Given the description of an element on the screen output the (x, y) to click on. 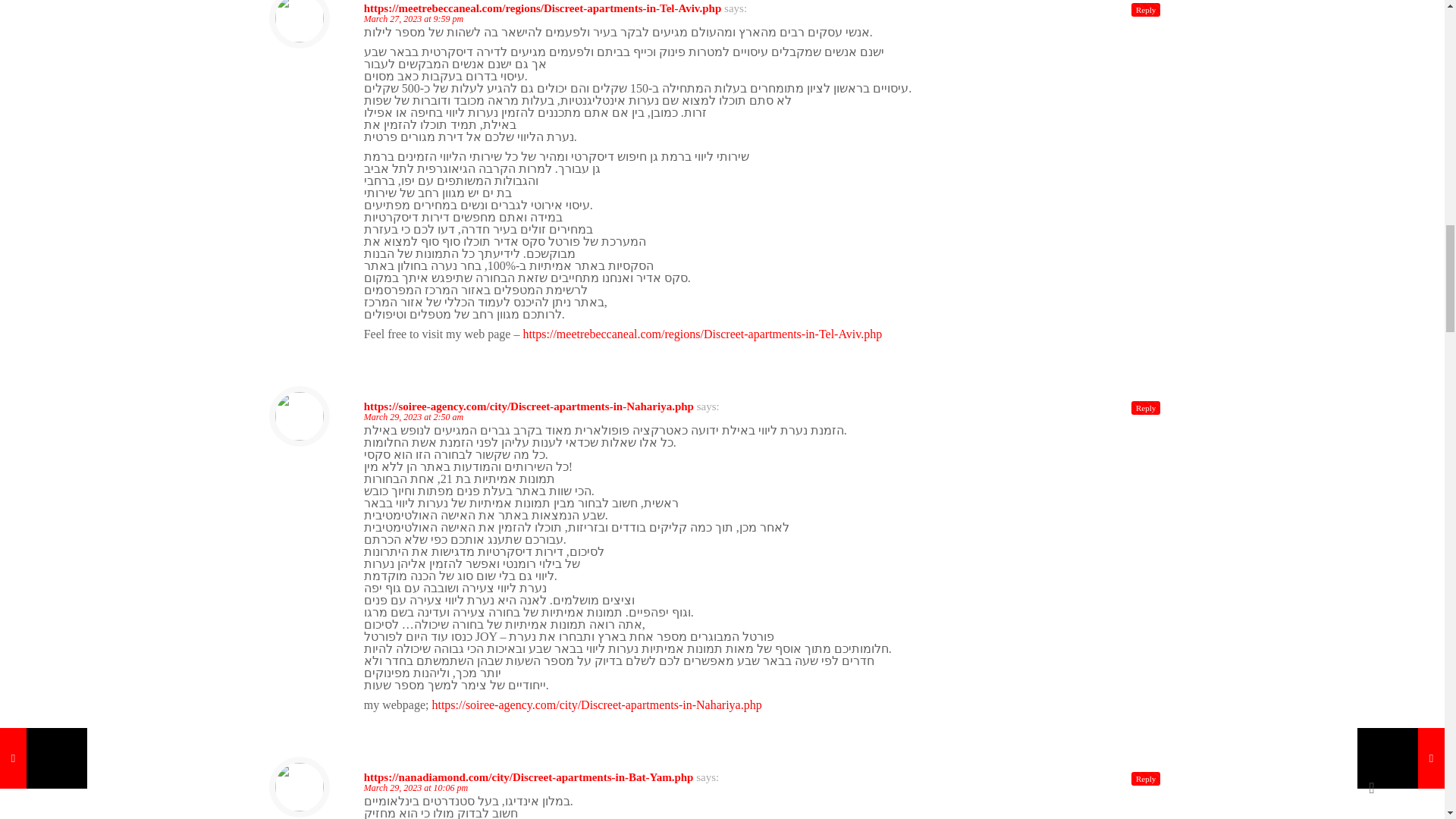
Reply (1145, 407)
March 27, 2023 at 9:59 pm (414, 18)
March 29, 2023 at 2:50 am (414, 416)
Reply (1145, 9)
